Given the description of an element on the screen output the (x, y) to click on. 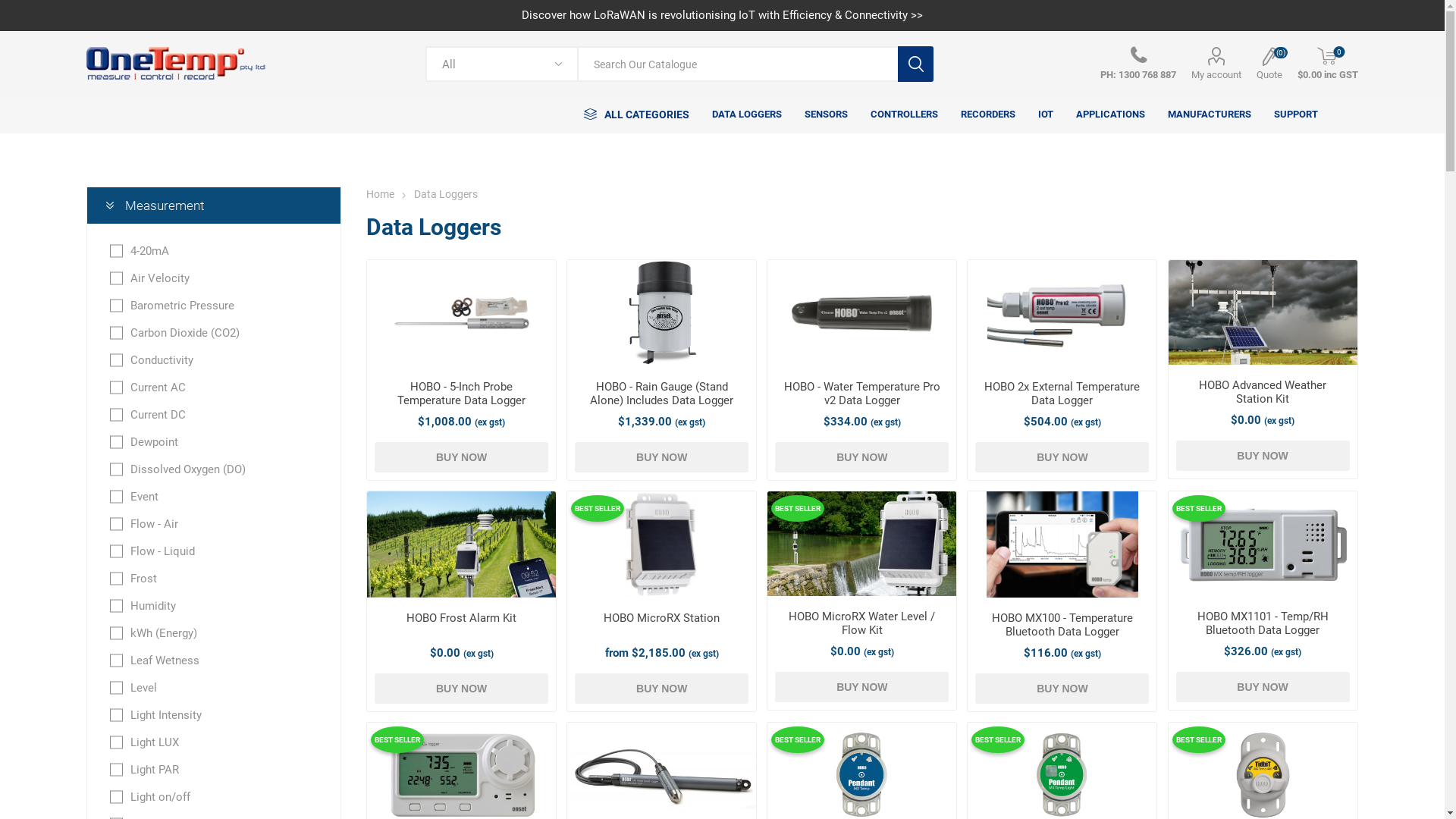
Show details for HOBO MX1101 - Temp/RH Bluetooth Data Logger Element type: hover (1262, 544)
HOBO Frost Alarm Kit Element type: text (461, 617)
SUPPORT Element type: text (1295, 114)
Show details for HOBO 2x External Temperature Data Logger Element type: hover (1061, 313)
BEST SELLER Element type: text (1196, 737)
BEST SELLER Element type: text (595, 506)
Quote
(0) Element type: text (1269, 63)
Buy Now Element type: text (661, 457)
Show details for HOBO MicroRX Water Level / Flow Kit Element type: hover (861, 544)
Buy Now Element type: text (461, 688)
HOBO MicroRX Station Element type: text (661, 617)
My account Element type: text (1216, 63)
BEST SELLER Element type: text (1196, 506)
Show details for HOBO 2x External Temperature Data Logger Element type: hover (1061, 314)
Show details for HOBO Frost Alarm Kit Element type: hover (461, 545)
Show details for HOBO Frost Alarm Kit Element type: hover (461, 544)
Buy Now Element type: text (861, 457)
PH: 1300 768 887 Element type: text (1138, 63)
ALL CATEGORIES Element type: text (636, 114)
Buy Now Element type: text (861, 686)
DATA LOGGERS Element type: text (746, 114)
Onetemp Element type: hover (176, 63)
Show details for HOBO - Water Temperature Pro v2 Data Logger Element type: hover (862, 313)
HOBO 2x External Temperature Data Logger Element type: text (1061, 393)
Buy Now Element type: text (1061, 457)
CONTROLLERS Element type: text (904, 114)
Show details for HOBO MicroRX Station Element type: hover (661, 544)
SENSORS Element type: text (826, 114)
Home Element type: text (380, 194)
Buy Now Element type: text (1262, 455)
HOBO - 5-Inch Probe Temperature Data Logger Element type: text (461, 393)
HOBO Advanced Weather Station Kit Element type: text (1262, 391)
HOBO MicroRX Water Level / Flow Kit Element type: text (861, 623)
Show details for HOBO MX1101 - Temp/RH Bluetooth Data Logger Element type: hover (1262, 543)
HOBO MX100 - Temperature Bluetooth Data Logger Element type: text (1061, 624)
Show details for HOBO - 5-Inch Probe Temperature Data Logger Element type: hover (461, 314)
IOT Element type: text (1045, 114)
BEST SELLER Element type: text (395, 737)
Buy Now Element type: text (661, 688)
Buy Now Element type: text (1061, 688)
RECORDERS Element type: text (987, 114)
Show details for HOBO Advanced Weather Station Kit Element type: hover (1262, 312)
Buy Now Element type: text (461, 457)
Show details for HOBO MicroRX Water Level / Flow Kit Element type: hover (861, 543)
BEST SELLER Element type: text (795, 737)
HOBO MX1101 - Temp/RH Bluetooth Data Logger Element type: text (1262, 623)
MANUFACTURERS Element type: text (1209, 114)
Search Element type: text (915, 63)
HOBO - Water Temperature Pro v2 Data Logger Element type: text (861, 393)
Show details for HOBO - Water Temperature Pro v2 Data Logger Element type: hover (861, 314)
Show details for HOBO - 5-Inch Probe Temperature Data Logger Element type: hover (461, 313)
BEST SELLER Element type: text (795, 506)
APPLICATIONS Element type: text (1110, 114)
0
$0.00 inc GST Element type: text (1327, 63)
Buy Now Element type: text (1262, 686)
HOBO - Rain Gauge (Stand Alone) Includes Data Logger Element type: text (661, 393)
Measurement Element type: text (213, 205)
Show details for HOBO Advanced Weather Station Kit Element type: hover (1262, 313)
BEST SELLER Element type: text (995, 737)
Show details for HOBO MicroRX Station Element type: hover (661, 545)
